Given the description of an element on the screen output the (x, y) to click on. 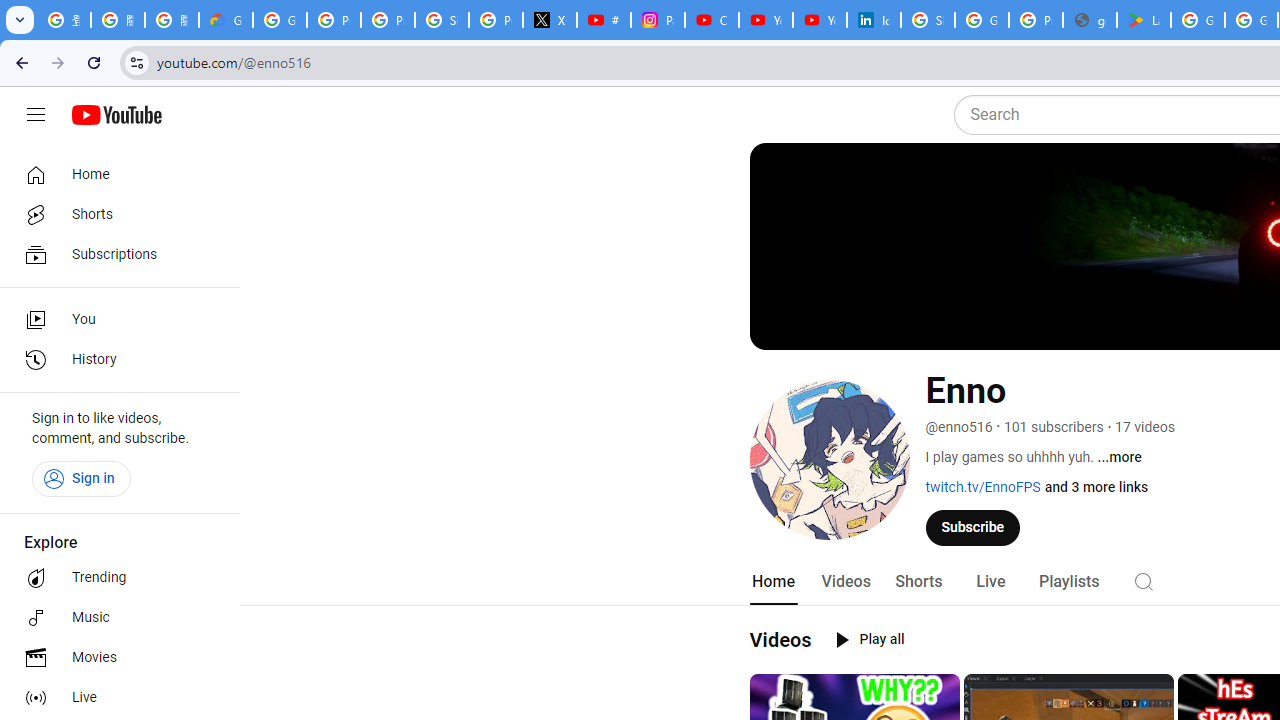
#nbabasketballhighlights - YouTube (604, 20)
Privacy Help Center - Policies Help (387, 20)
Live (990, 581)
Videos (845, 581)
Videos (779, 639)
Subscribe (973, 527)
Movies (113, 657)
Home (113, 174)
